Given the description of an element on the screen output the (x, y) to click on. 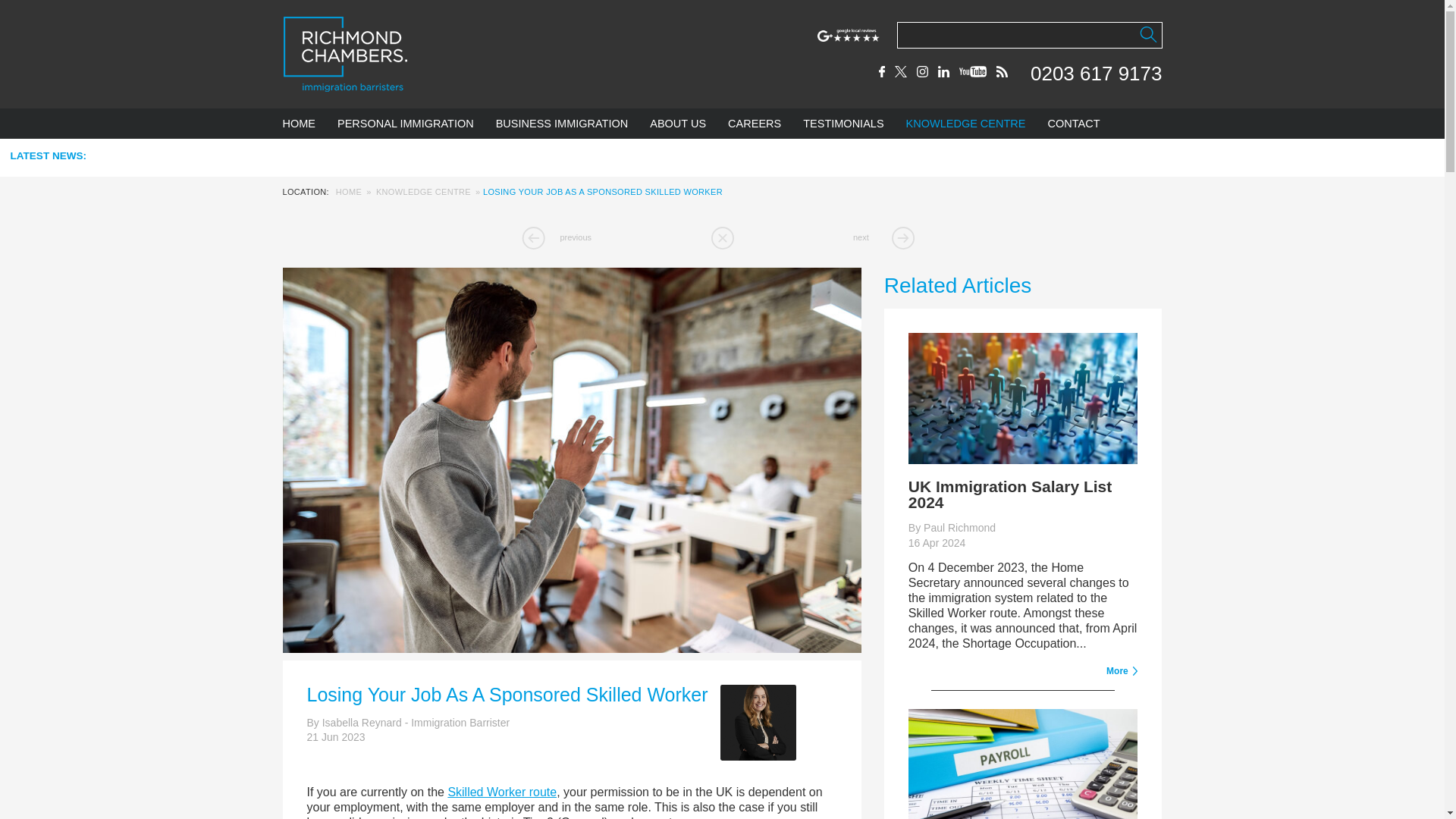
Back (722, 237)
Previous (553, 237)
Next (890, 237)
